Given the description of an element on the screen output the (x, y) to click on. 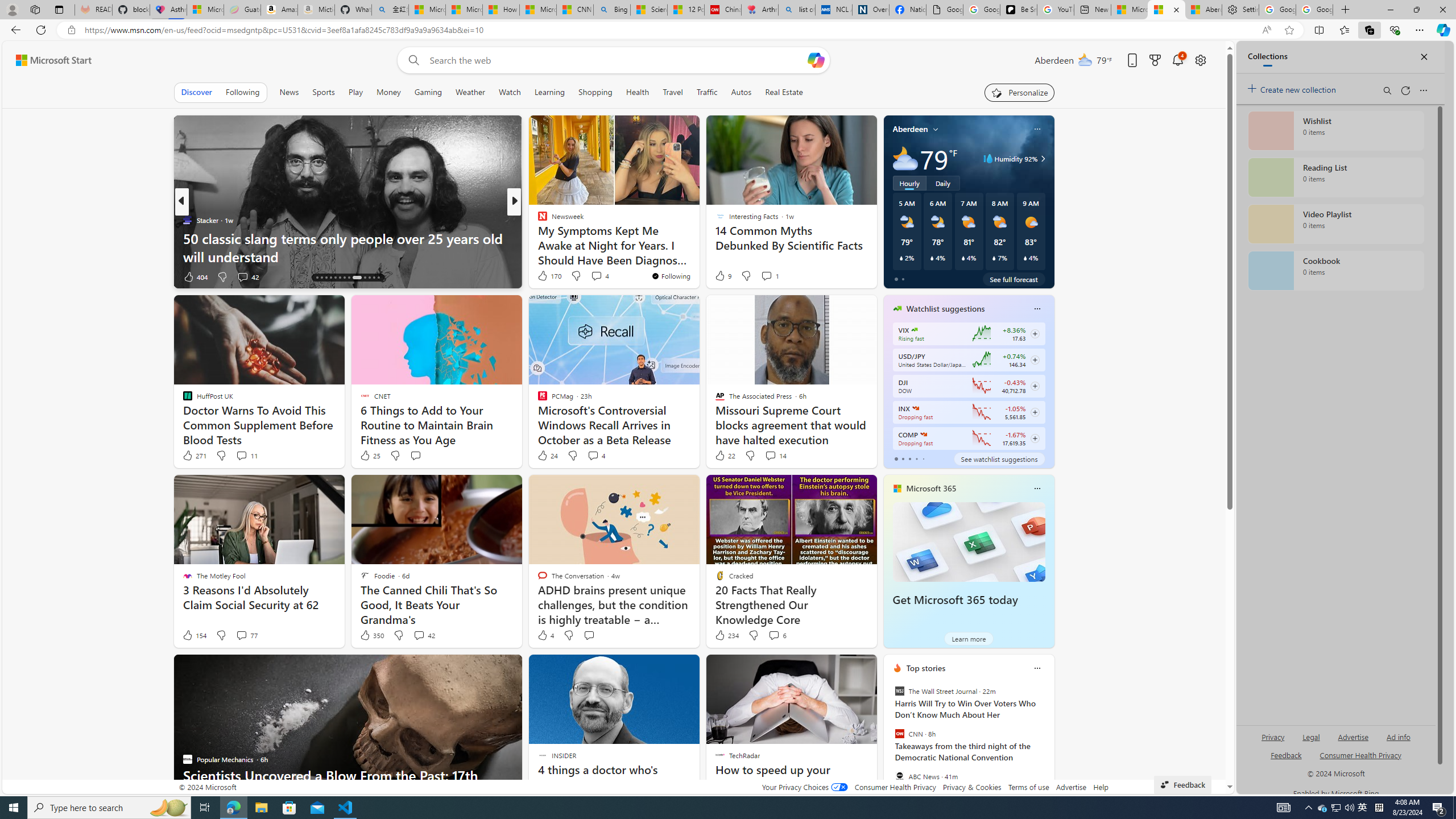
CBOE Market Volatility Index (914, 329)
How to clear your browser cache and cookies (697, 256)
Pocket-lint (537, 238)
tab-2 (908, 458)
See full forecast (1013, 278)
AutomationID: tab-18 (335, 277)
AutomationID: tab-14 (317, 277)
